Given the description of an element on the screen output the (x, y) to click on. 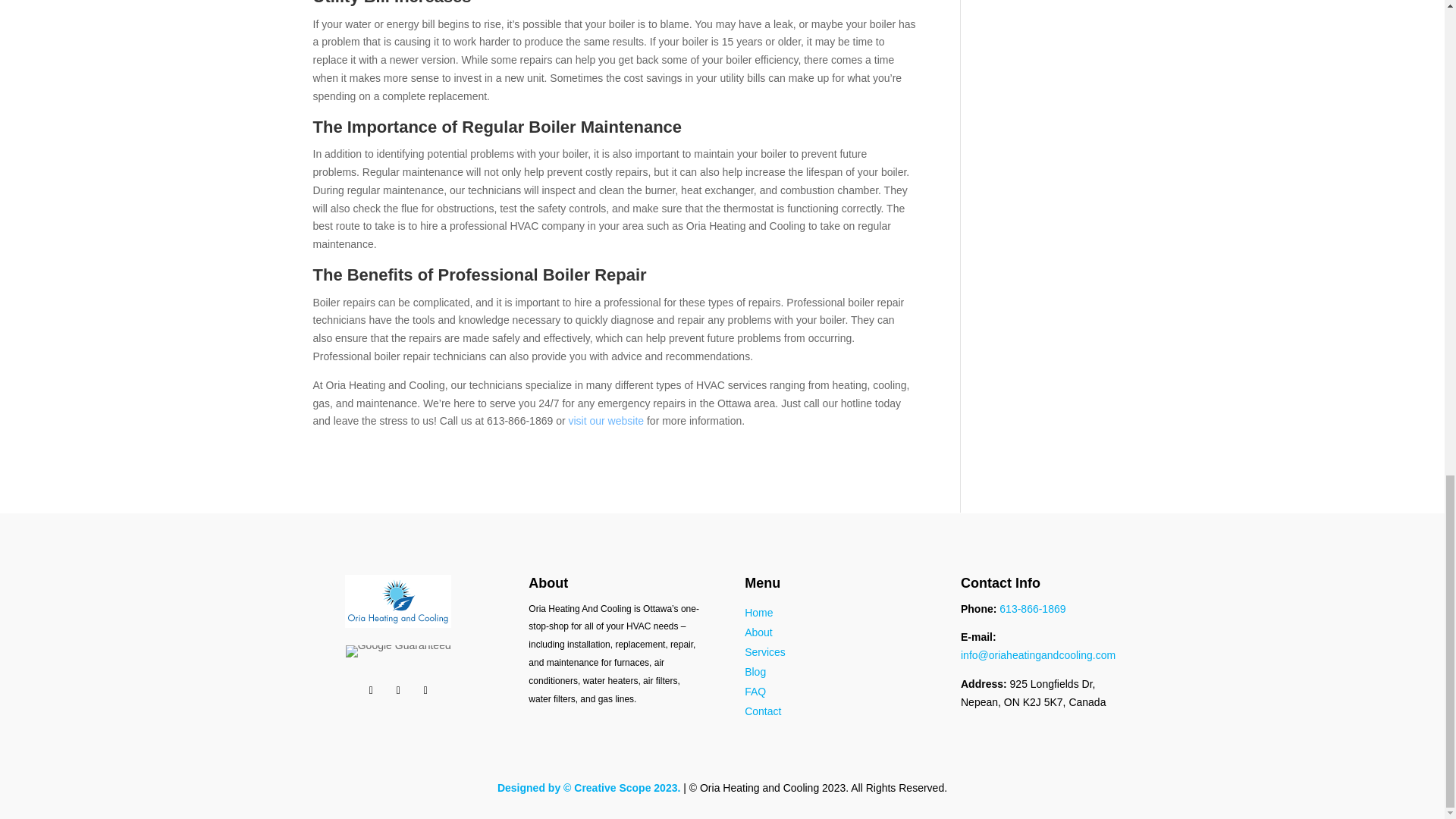
Follow on Instagram (424, 690)
Follow on Google (398, 690)
Follow on Facebook (370, 690)
Google-Guaranteed (398, 651)
